Given the description of an element on the screen output the (x, y) to click on. 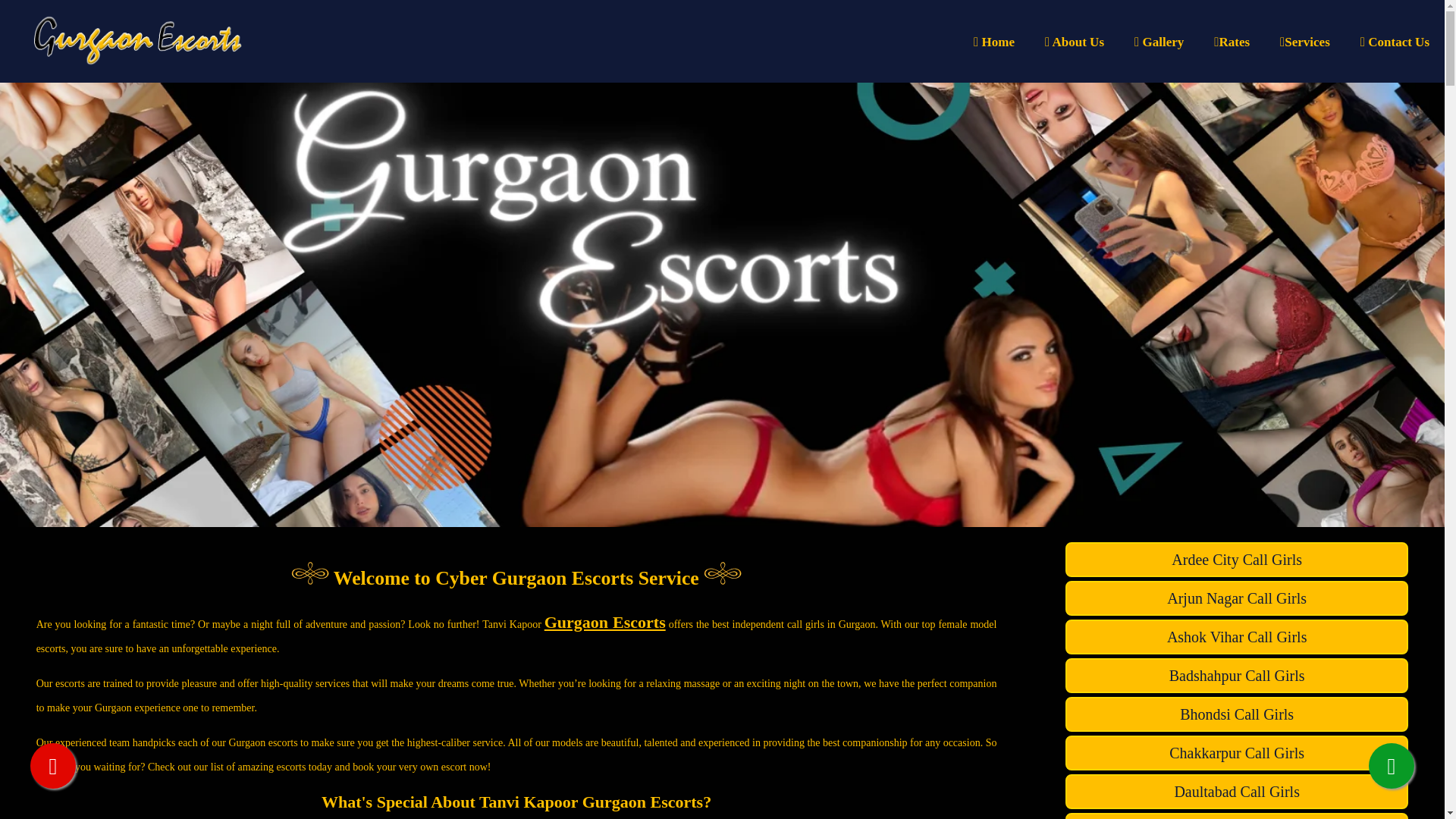
Gurgaon Escorts (604, 621)
DLF City Call Girls (1236, 816)
Rates (1231, 42)
Arjun Nagar Call Girls (1236, 597)
Home (993, 42)
Badshahpur Call Girls (1236, 675)
Ashok Vihar Call Girls (1236, 636)
About Us (1074, 42)
Chakkarpur Call Girls (1236, 752)
Bhondsi Call Girls (1236, 714)
Ardee City Call Girls (1236, 559)
Daultabad Call Girls (1236, 791)
Gallery (1158, 42)
Services (1305, 42)
